Given the description of an element on the screen output the (x, y) to click on. 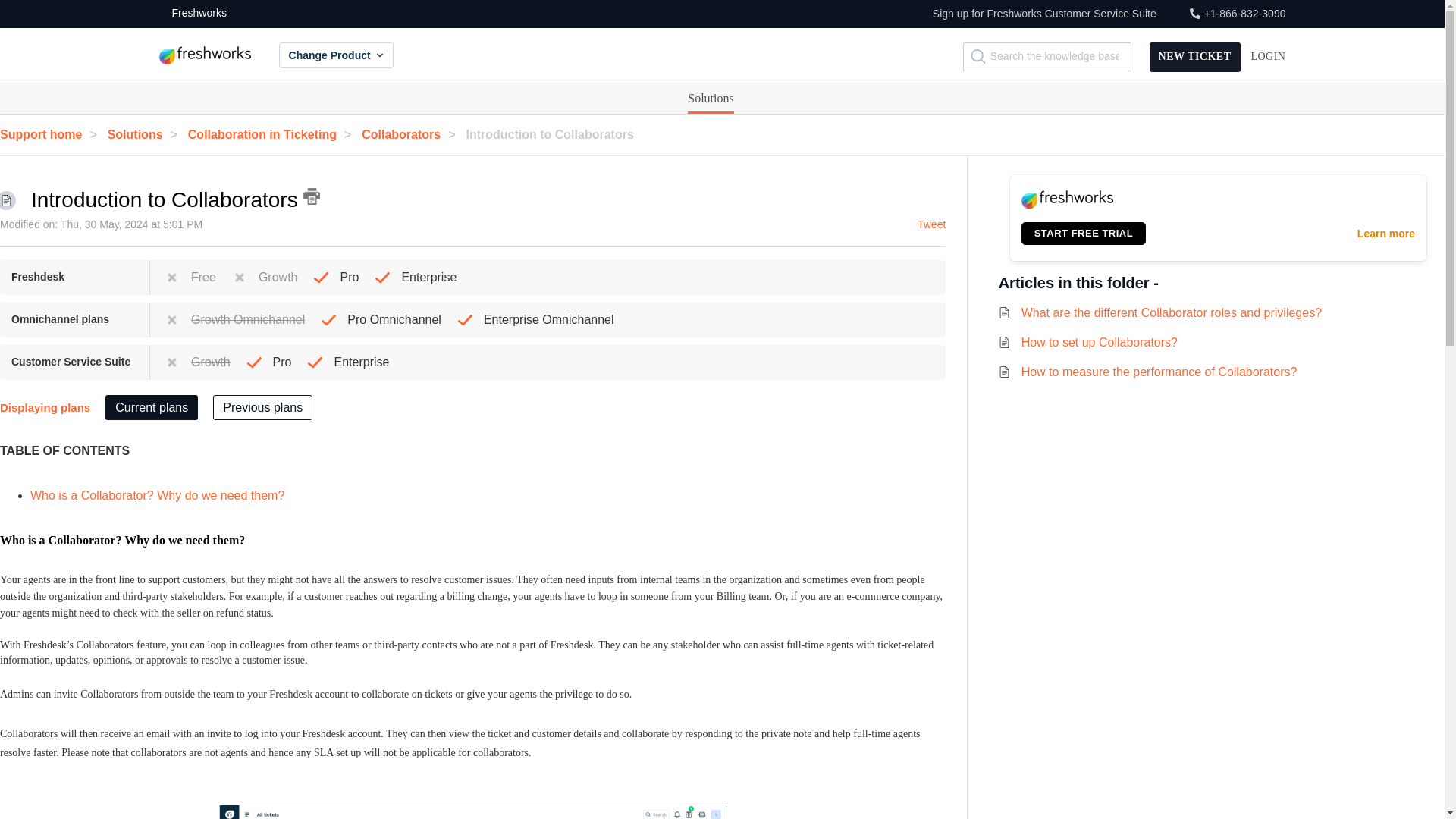
Tweet (930, 224)
Solutions (710, 98)
How to set up Collaborators? (1099, 341)
Collaboration in Ticketing (273, 133)
START FREE TRIAL (1084, 232)
Collaborators (412, 133)
Print this Article (311, 196)
Previous plans (262, 407)
Sign up for Freshworks Customer Service Suite (1044, 13)
NEW TICKET (1195, 56)
Current plans (151, 407)
Solutions (710, 98)
Freshworks (192, 13)
Solutions (145, 133)
Who is a Collaborator? Why do we need them?  (159, 495)
